Given the description of an element on the screen output the (x, y) to click on. 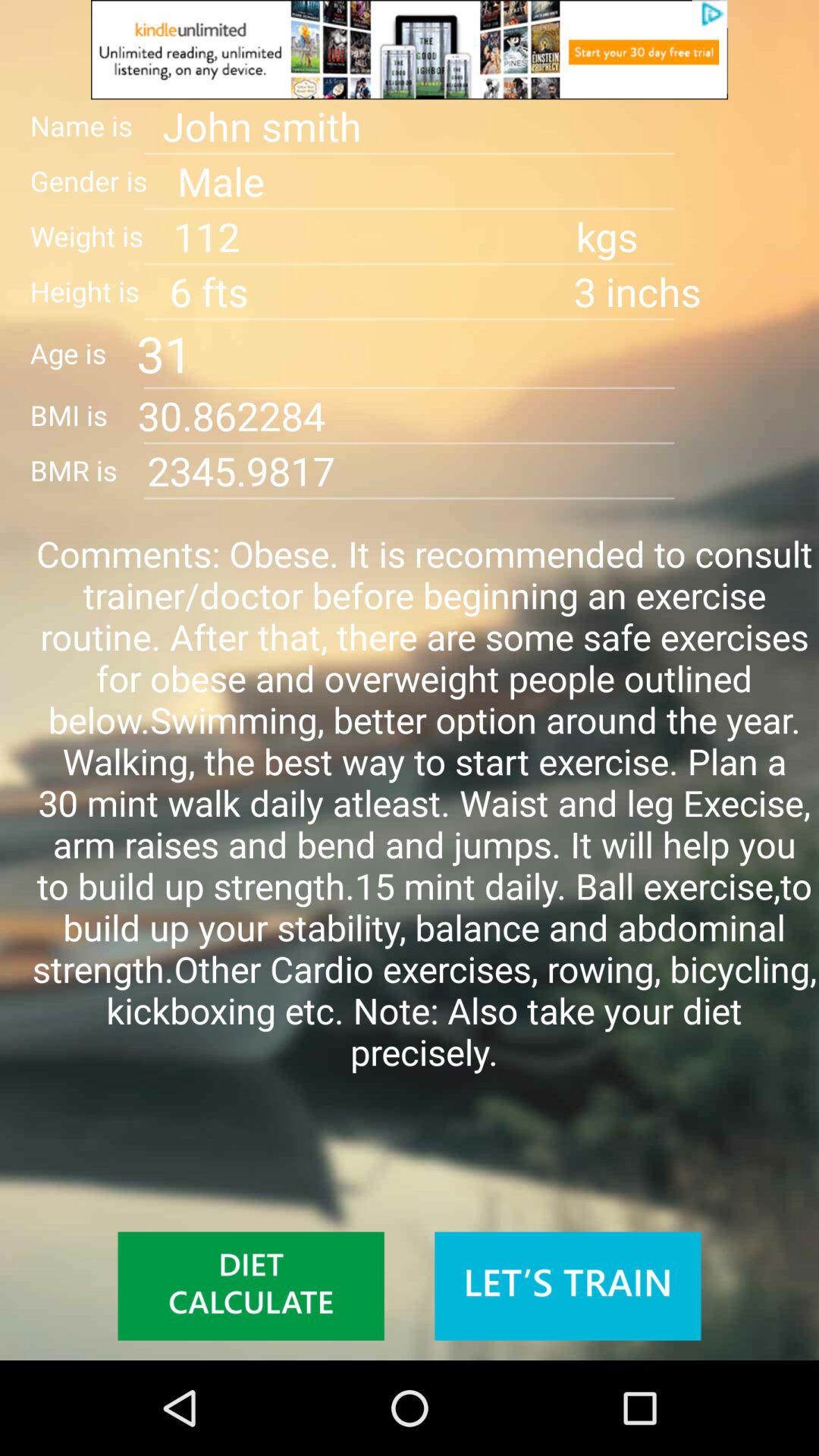
click the number right to age is (477, 353)
